Given the description of an element on the screen output the (x, y) to click on. 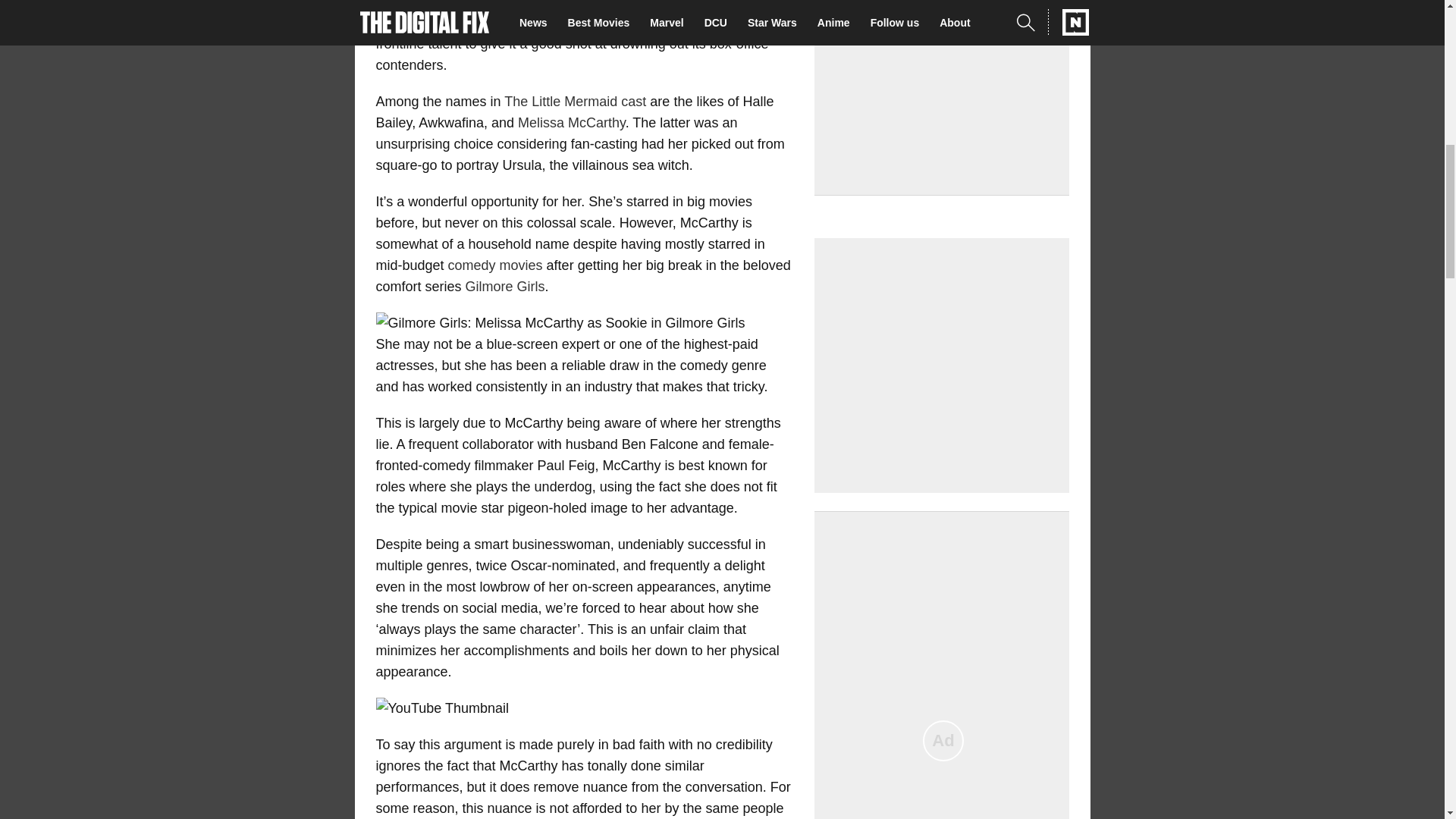
comedy movies (495, 264)
The Little Mermaid cast (574, 101)
Melissa McCarthy (572, 122)
Gilmore Girls (504, 286)
